Given the description of an element on the screen output the (x, y) to click on. 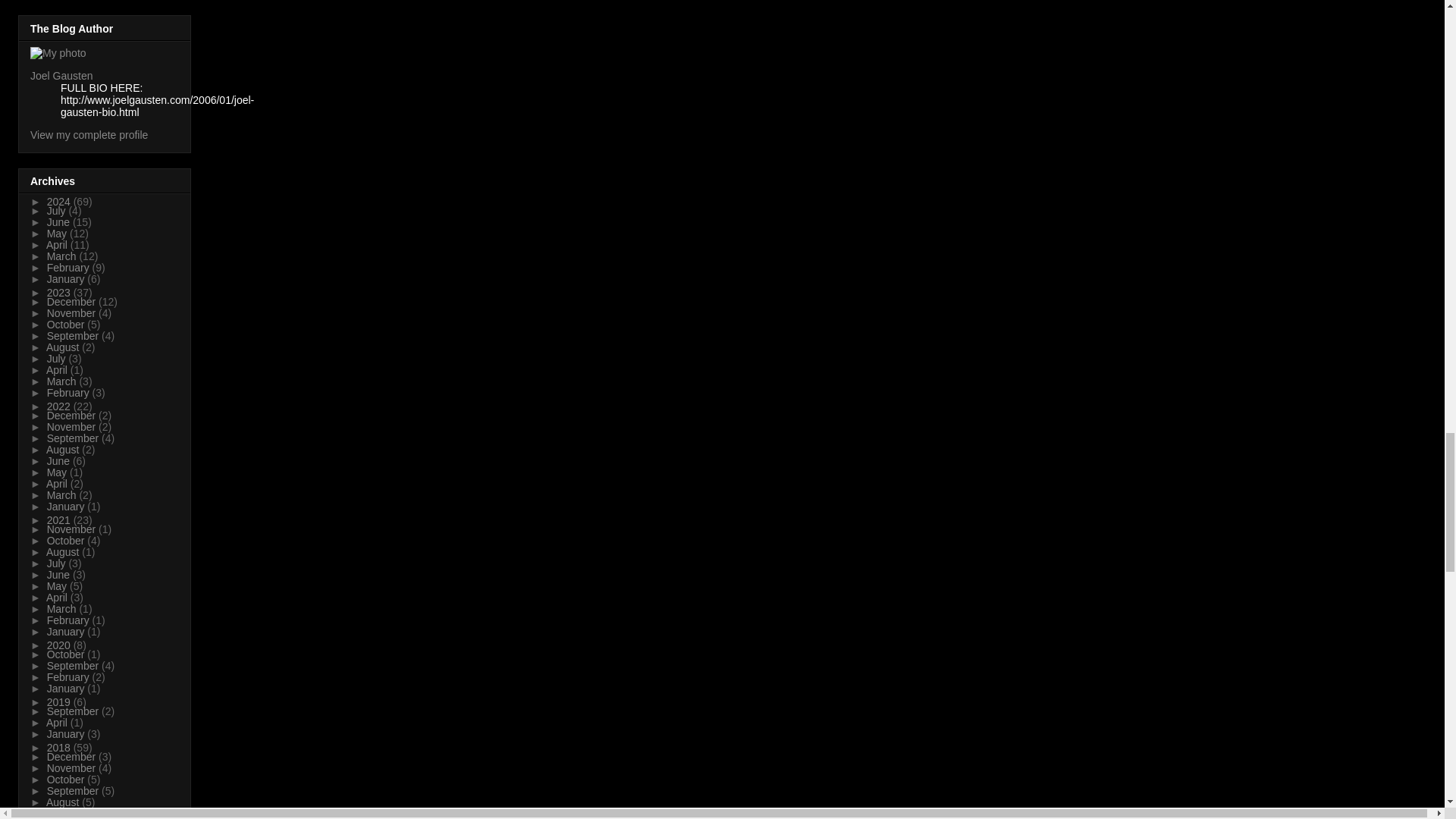
View my complete profile (89, 134)
March (63, 256)
May (57, 233)
Joel Gausten (61, 75)
February (69, 267)
2024 (60, 201)
June (59, 222)
April (57, 244)
July (57, 210)
